Given the description of an element on the screen output the (x, y) to click on. 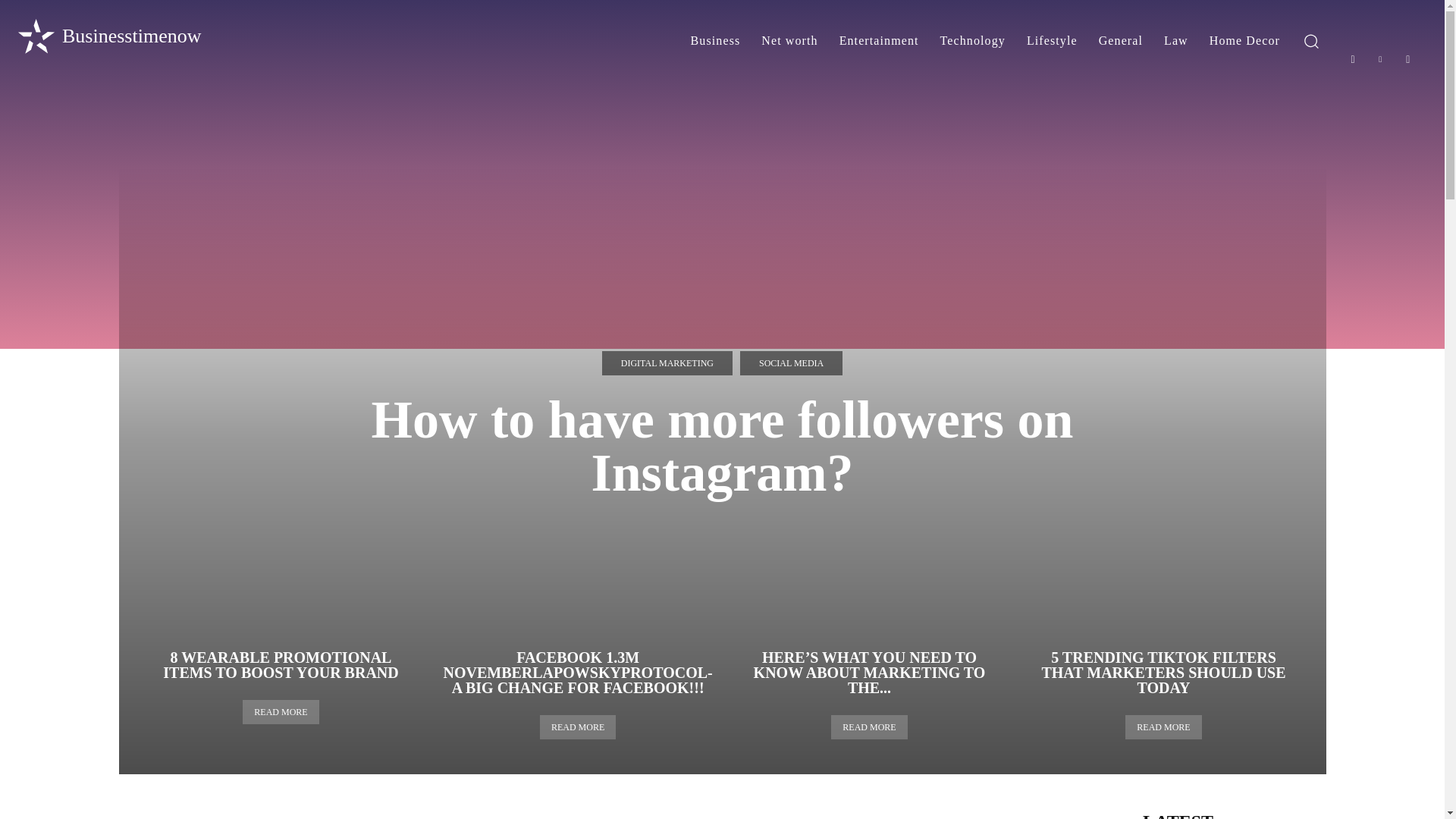
General (1120, 40)
Businesstimenow (107, 36)
Technology (973, 40)
SOCIAL MEDIA (791, 362)
Law (1175, 40)
Entertainment (879, 40)
Lifestyle (1051, 40)
Net worth (789, 40)
Businesstimenow (107, 36)
DIGITAL MARKETING (667, 362)
